Given the description of an element on the screen output the (x, y) to click on. 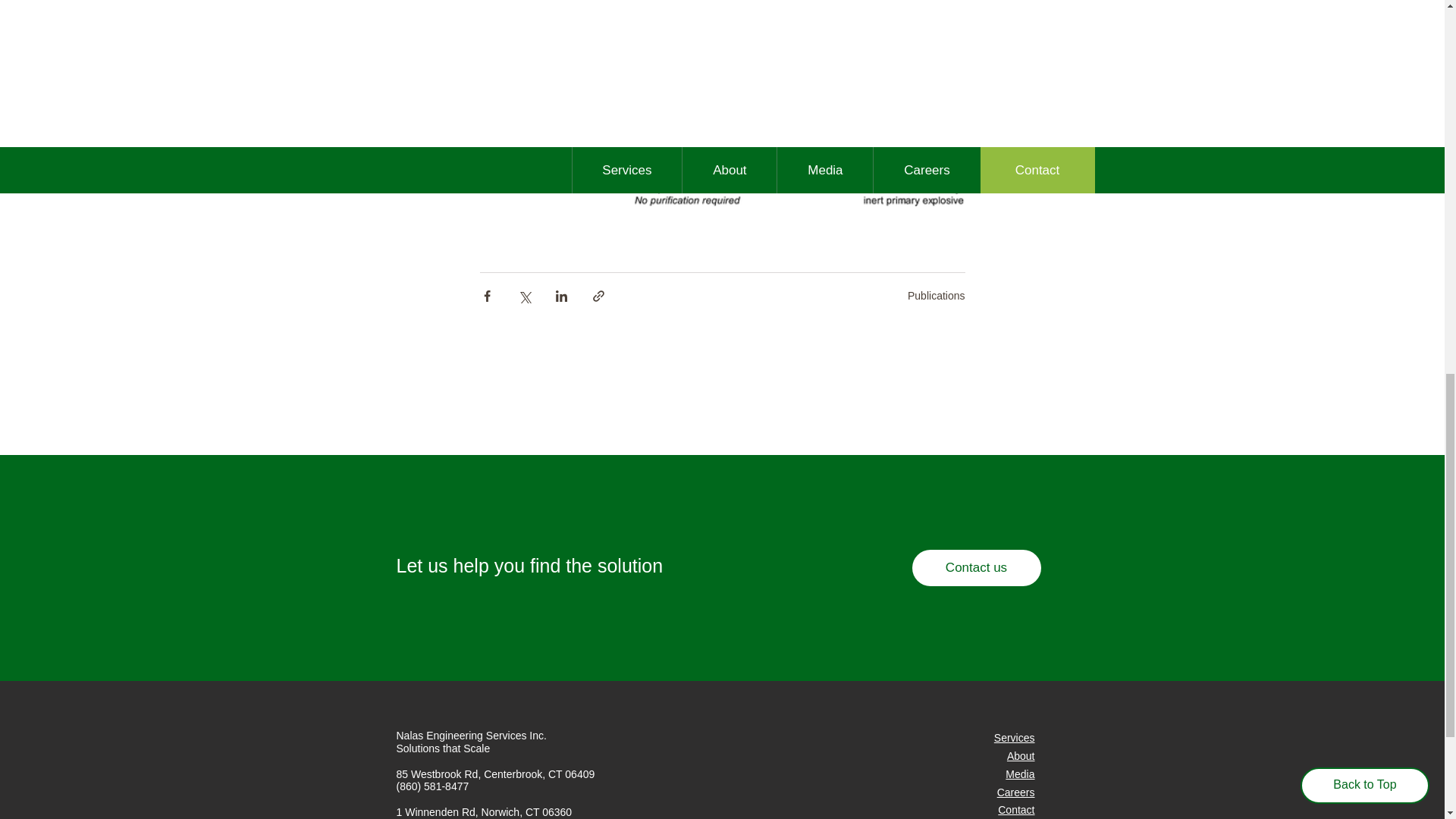
About (1021, 756)
Publications (936, 295)
Contact us (976, 567)
Media (1019, 774)
Careers (1016, 792)
here (598, 64)
Contact (1015, 809)
Services (1014, 737)
